Given the description of an element on the screen output the (x, y) to click on. 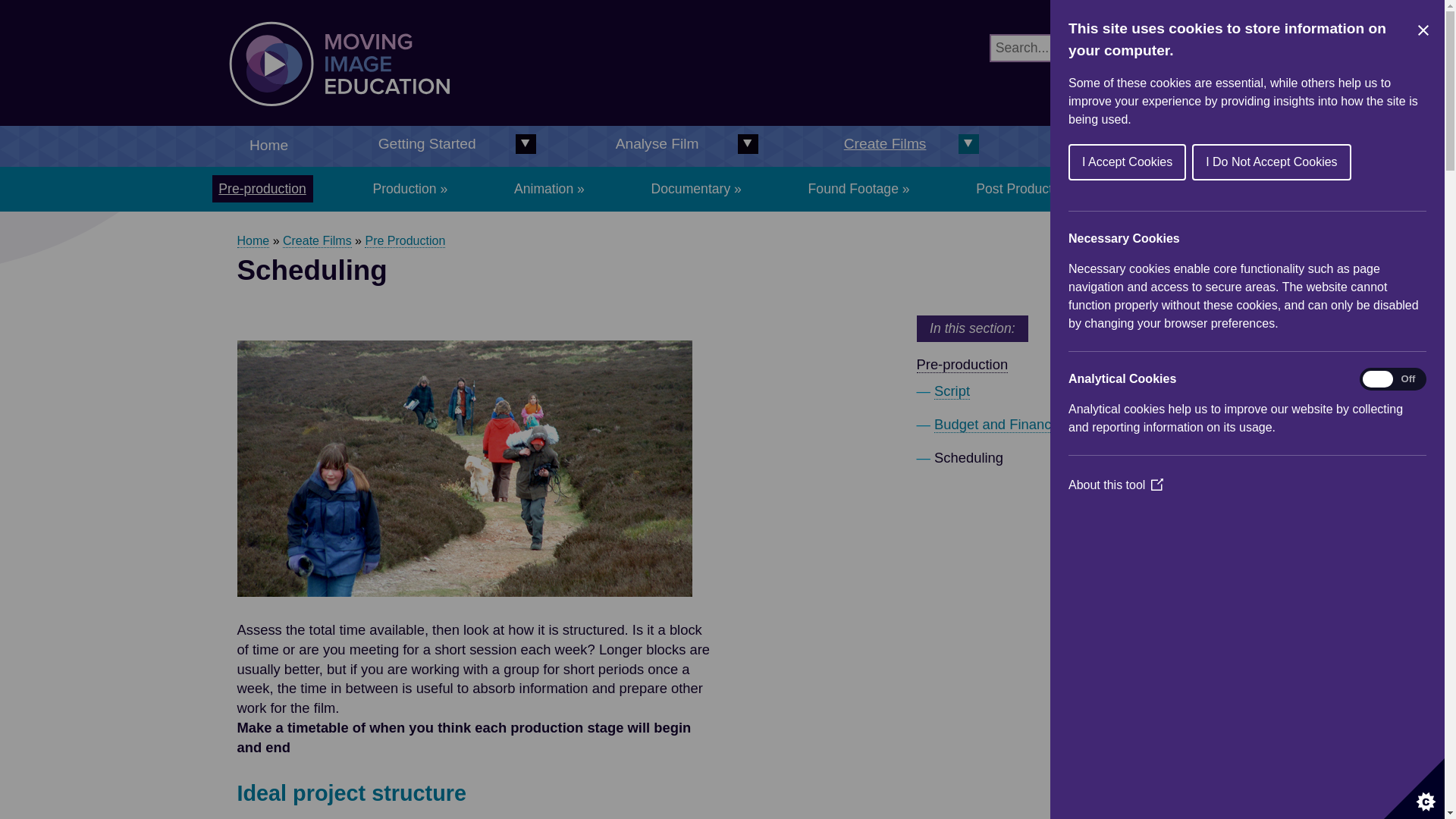
Analyse Film (676, 144)
Skip to main content (11, 11)
Getting Started (446, 144)
Enter the terms you wish to search for. (1070, 48)
Home (252, 241)
Animation (548, 188)
Screenings (1186, 188)
Pre Production (405, 241)
Pre-production (262, 188)
Go to Homepage (475, 115)
